Given the description of an element on the screen output the (x, y) to click on. 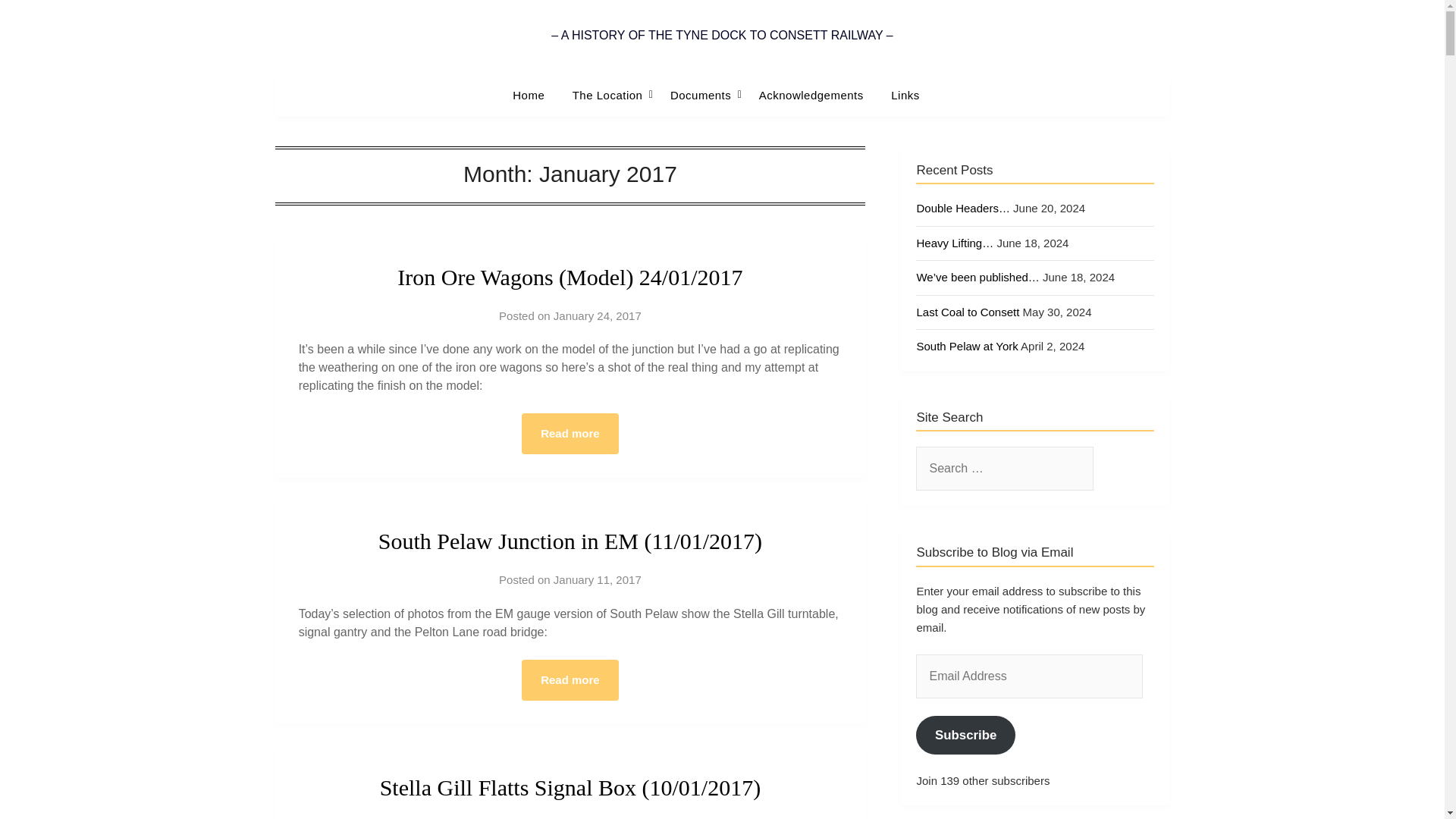
Home (534, 95)
The Location (607, 95)
